Given the description of an element on the screen output the (x, y) to click on. 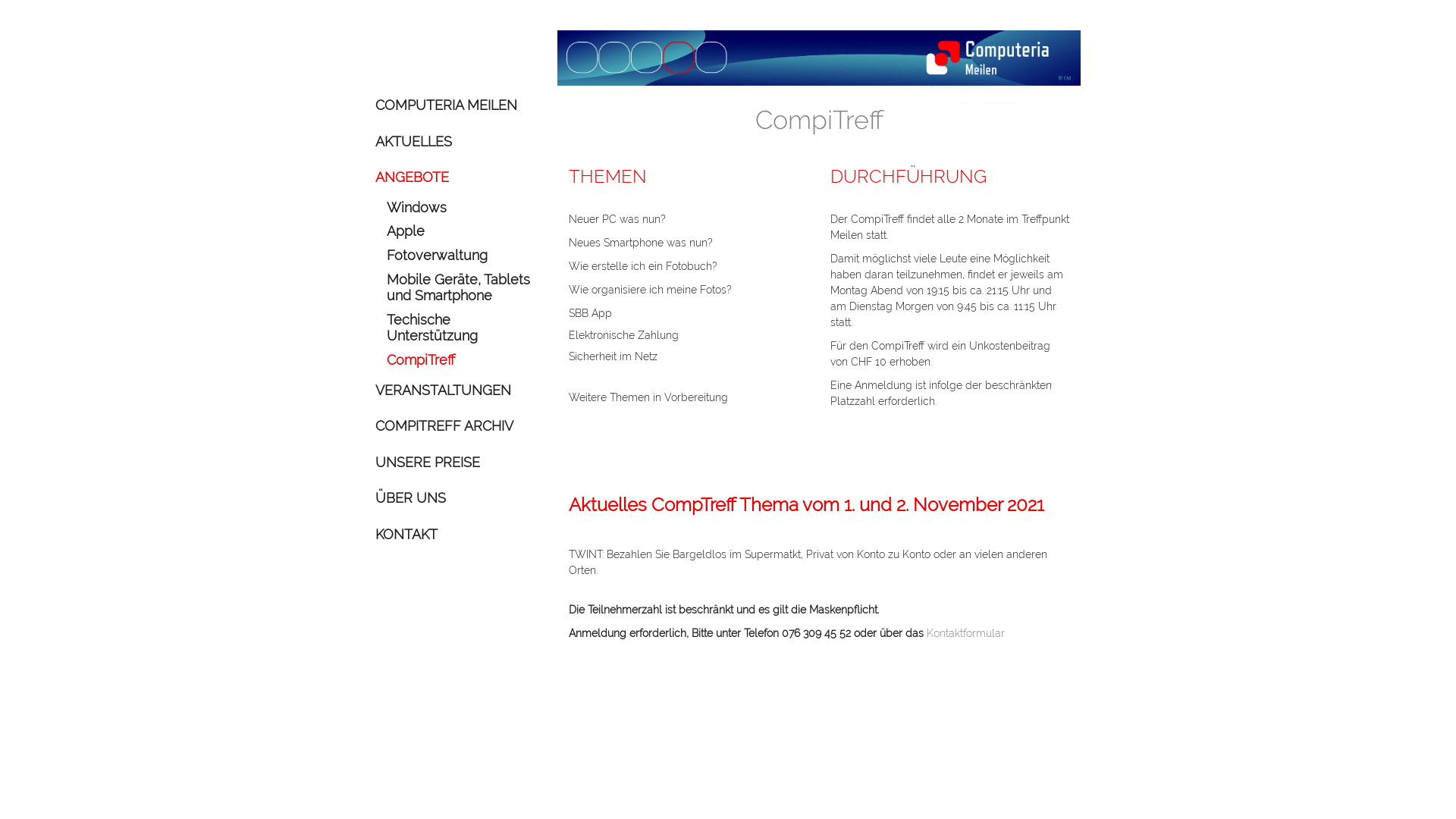
CompiTreff Element type: text (460, 360)
COMPITREFF ARCHIV Element type: text (454, 425)
Apple Element type: text (460, 231)
ANGEBOTE Element type: text (454, 177)
UNSERE PREISE Element type: text (454, 462)
Windows Element type: text (460, 207)
COMPUTERIA MEILEN Element type: text (454, 105)
VERANSTALTUNGEN Element type: text (454, 390)
KONTAKT Element type: text (454, 534)
Fotoverwaltung Element type: text (460, 255)
Kontaktformular. Element type: text (964, 633)
AKTUELLES Element type: text (454, 141)
